Given the description of an element on the screen output the (x, y) to click on. 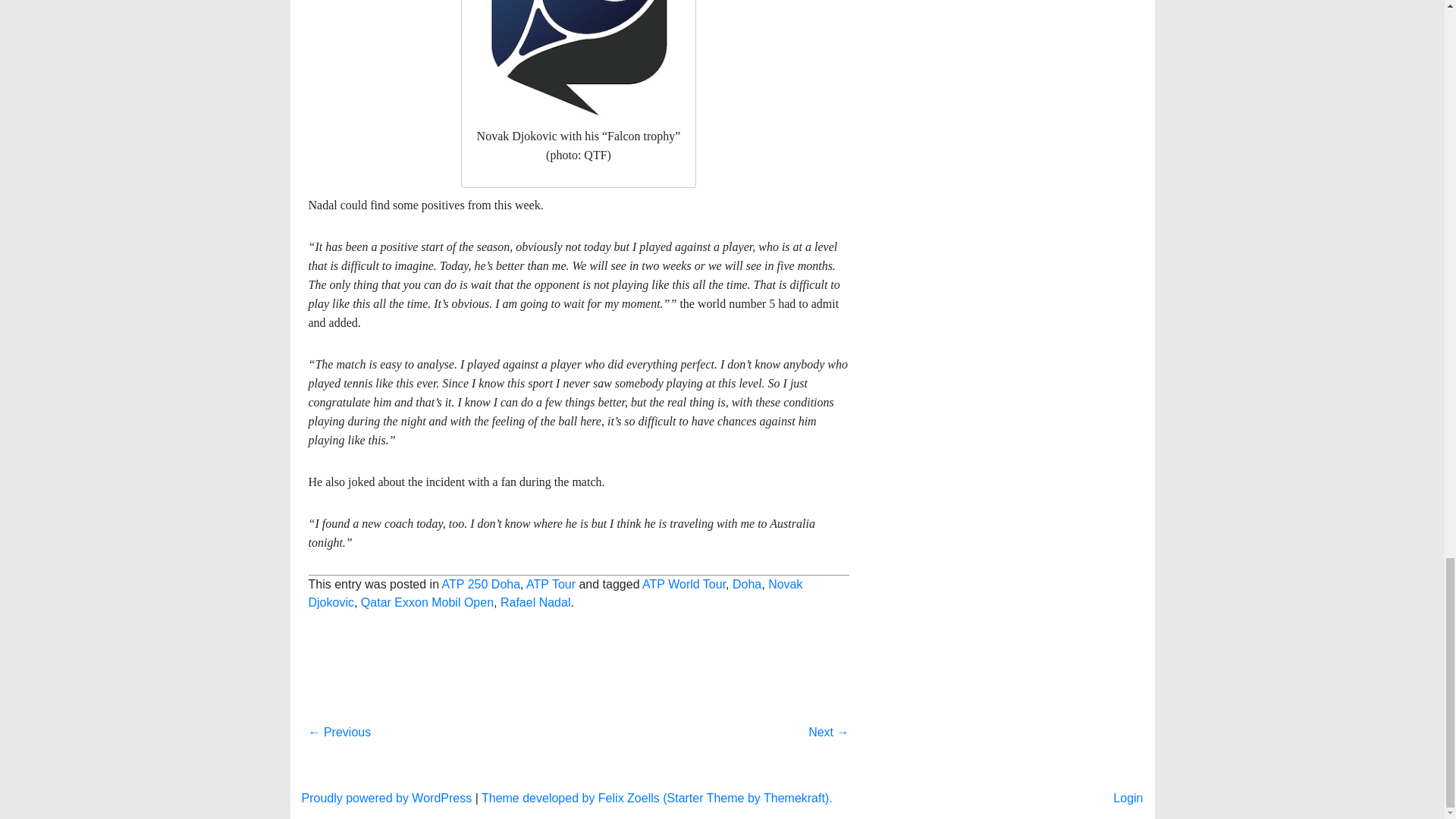
Doha (746, 584)
Rafael Nadal (535, 602)
Novak Djokovic (554, 593)
Qatar Exxon Mobil Open (427, 602)
Login (1127, 798)
ATP Tour (550, 584)
ATP 250 Doha (480, 584)
Proudly powered by WordPress (386, 797)
ATP World Tour (683, 584)
